Given the description of an element on the screen output the (x, y) to click on. 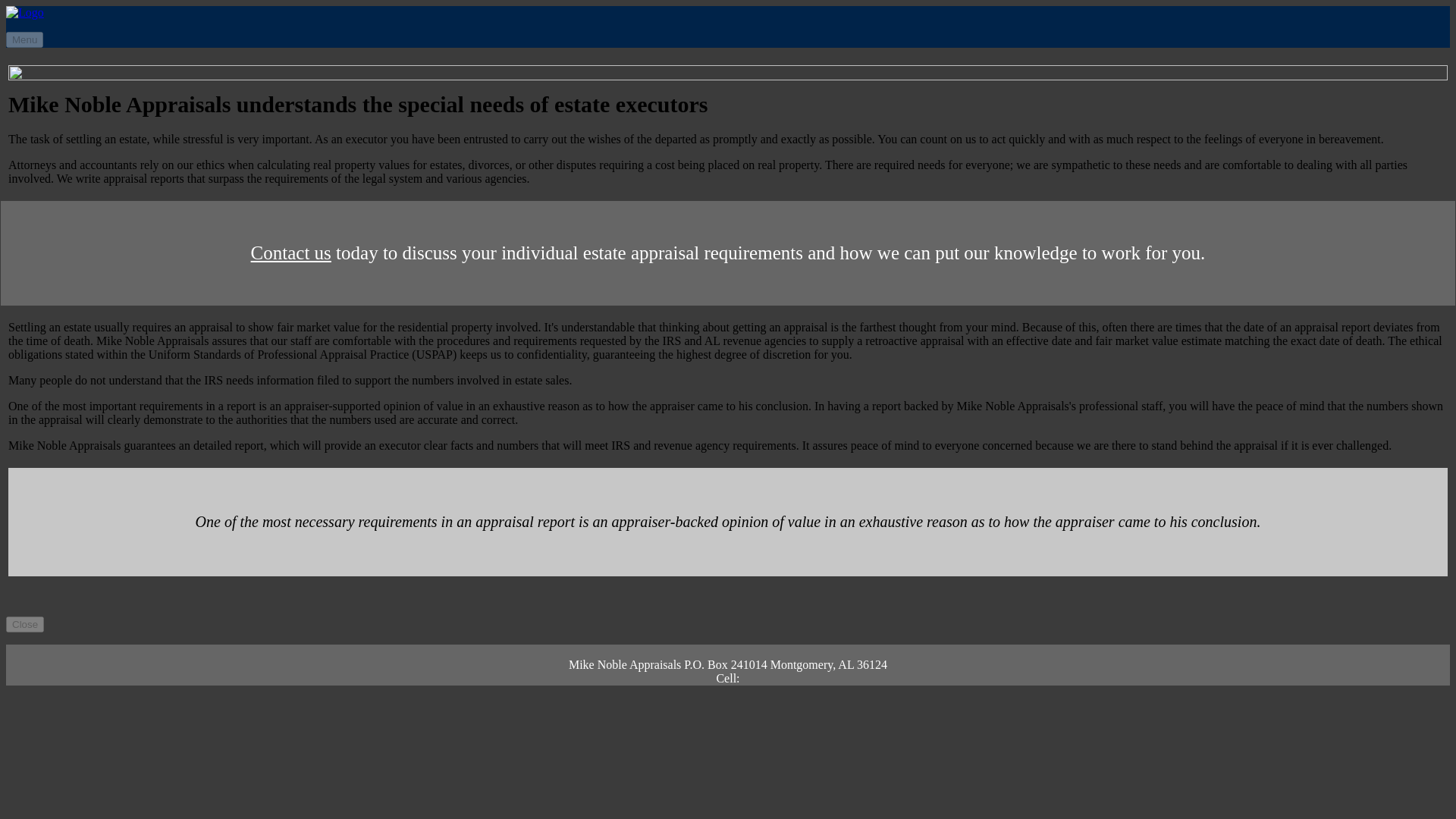
Contact us (290, 252)
Close (24, 624)
Menu (24, 39)
